Given the description of an element on the screen output the (x, y) to click on. 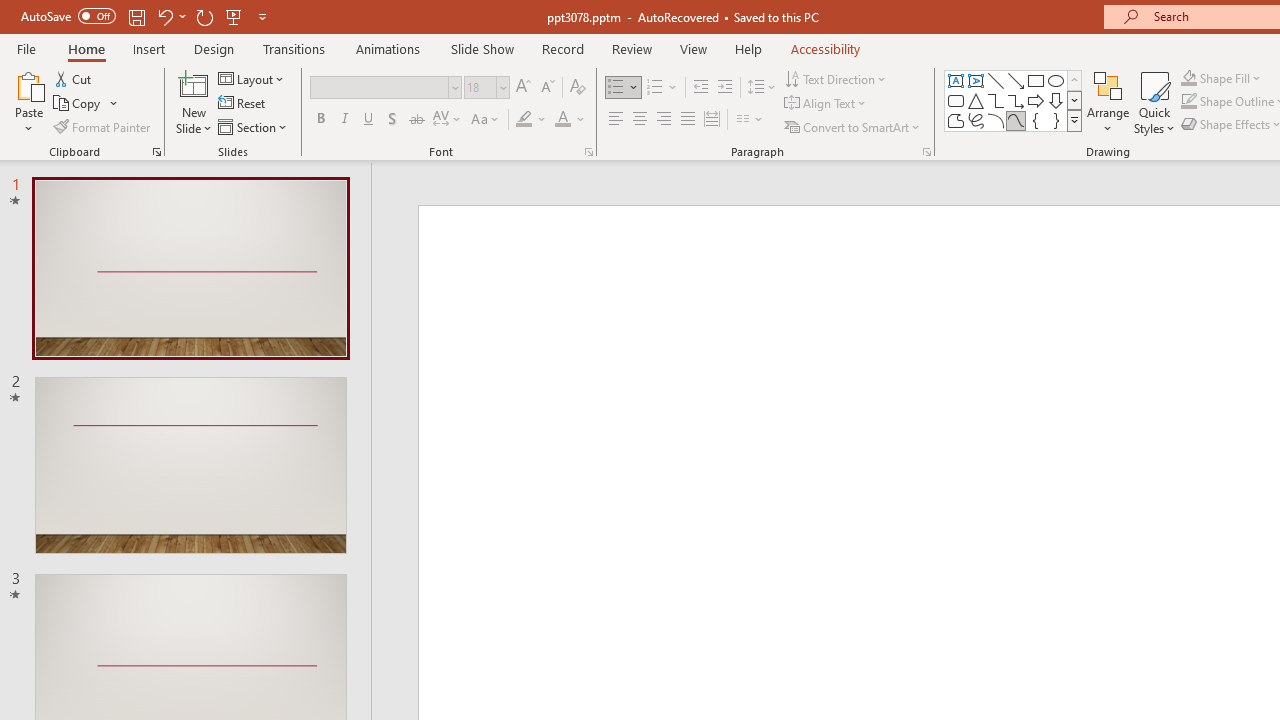
Shape Fill (1221, 78)
Vertical Text Box (975, 80)
Font... (588, 151)
Office Clipboard... (156, 151)
Line Spacing (762, 87)
Line Arrow (1016, 80)
